Given the description of an element on the screen output the (x, y) to click on. 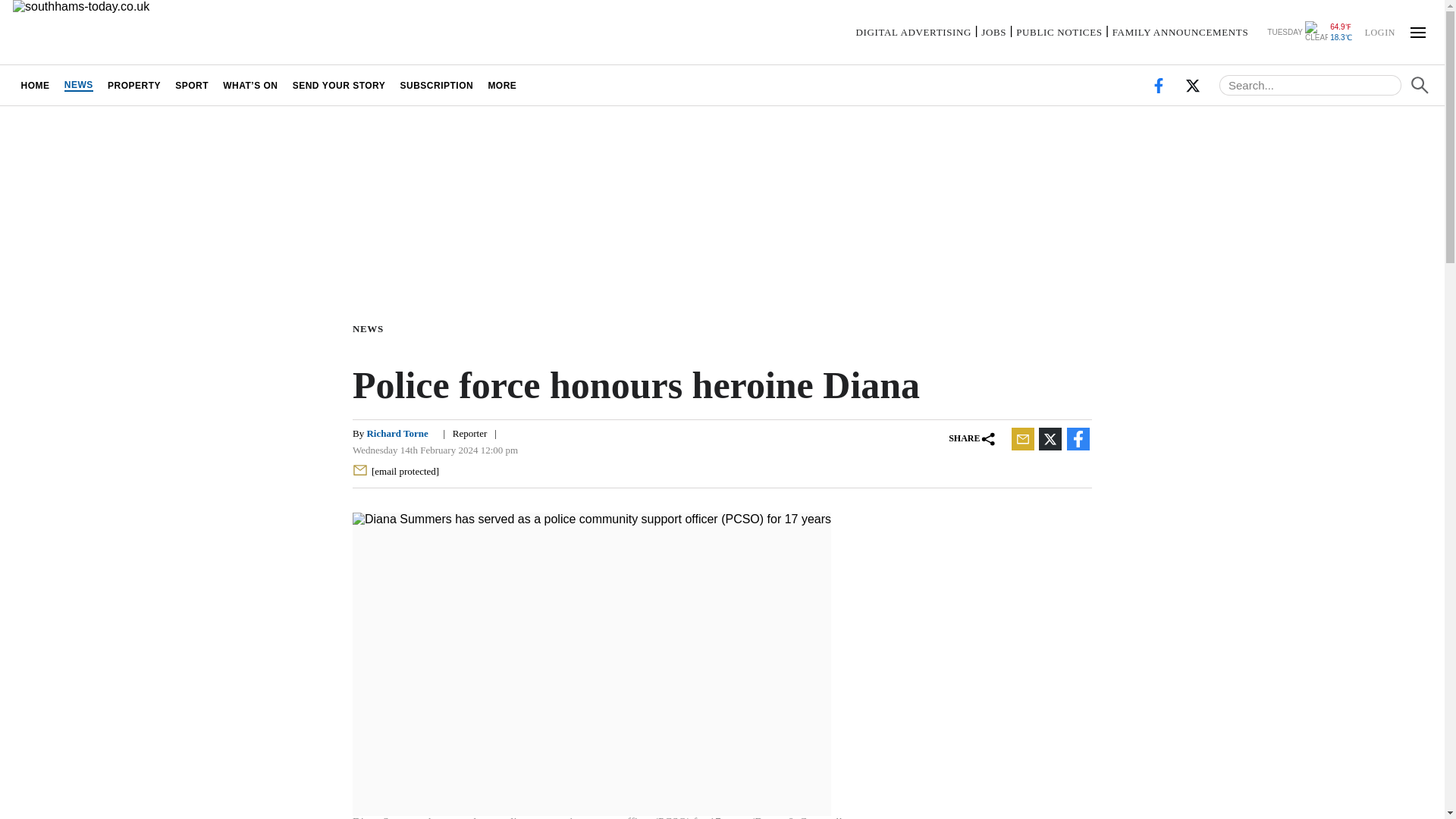
FAMILY ANNOUNCEMENTS (1180, 32)
NEWS (78, 85)
LOGIN (1379, 31)
PROPERTY (133, 85)
MORE (502, 85)
HOME (34, 85)
NEWS (371, 328)
SPORT (191, 85)
SUBSCRIPTION (436, 85)
Richard Torne (397, 432)
SEND YOUR STORY (339, 85)
